Given the description of an element on the screen output the (x, y) to click on. 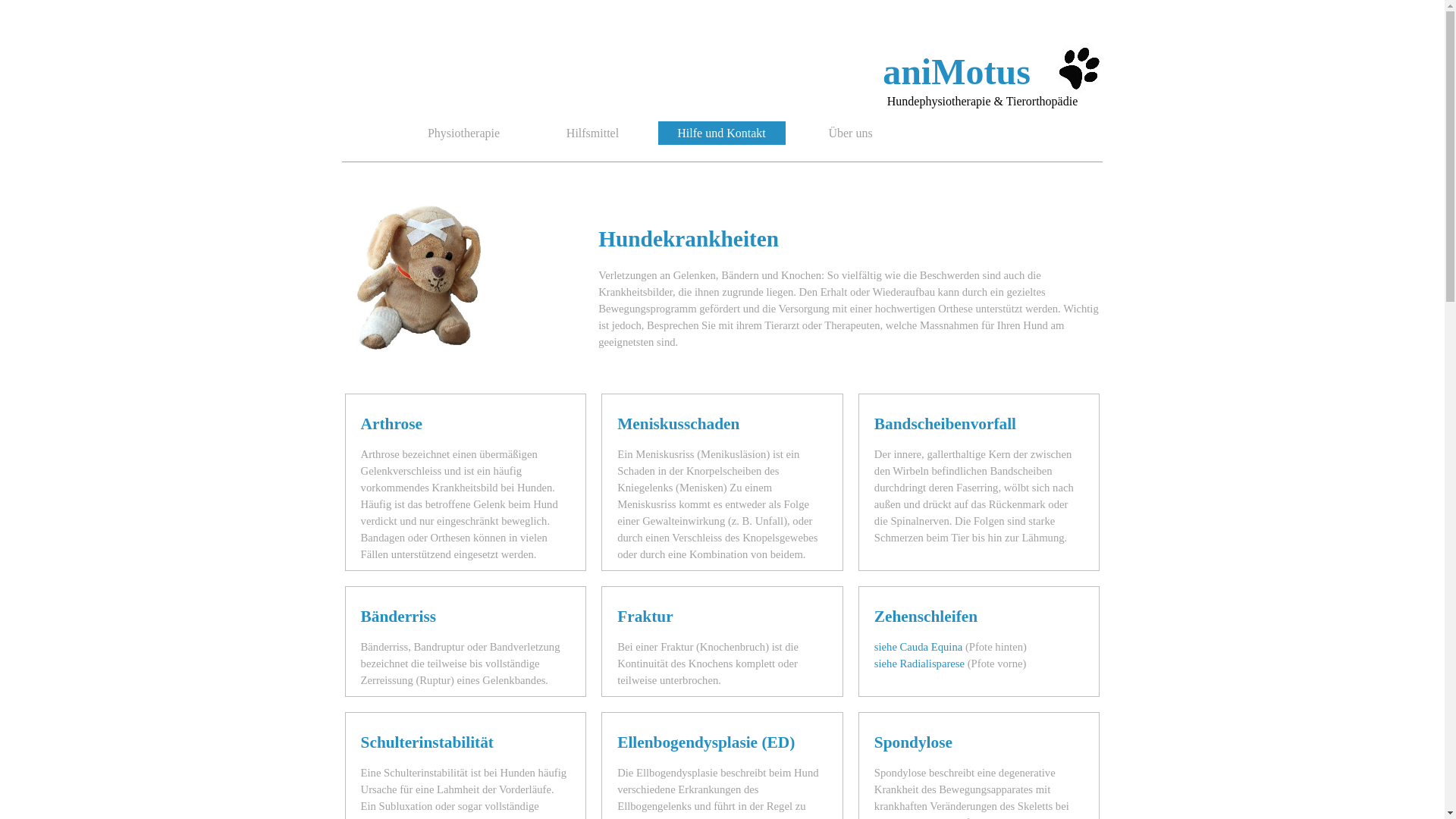
Erkrankungen beim Hund Element type: hover (423, 275)
siehe Cauda Equina Element type: text (918, 646)
siehe Radialisparese Element type: text (919, 663)
aniMotus Element type: text (956, 71)
Physiotherapie Element type: text (463, 132)
Pfote aniMotus GmbH Element type: hover (1078, 66)
